Given the description of an element on the screen output the (x, y) to click on. 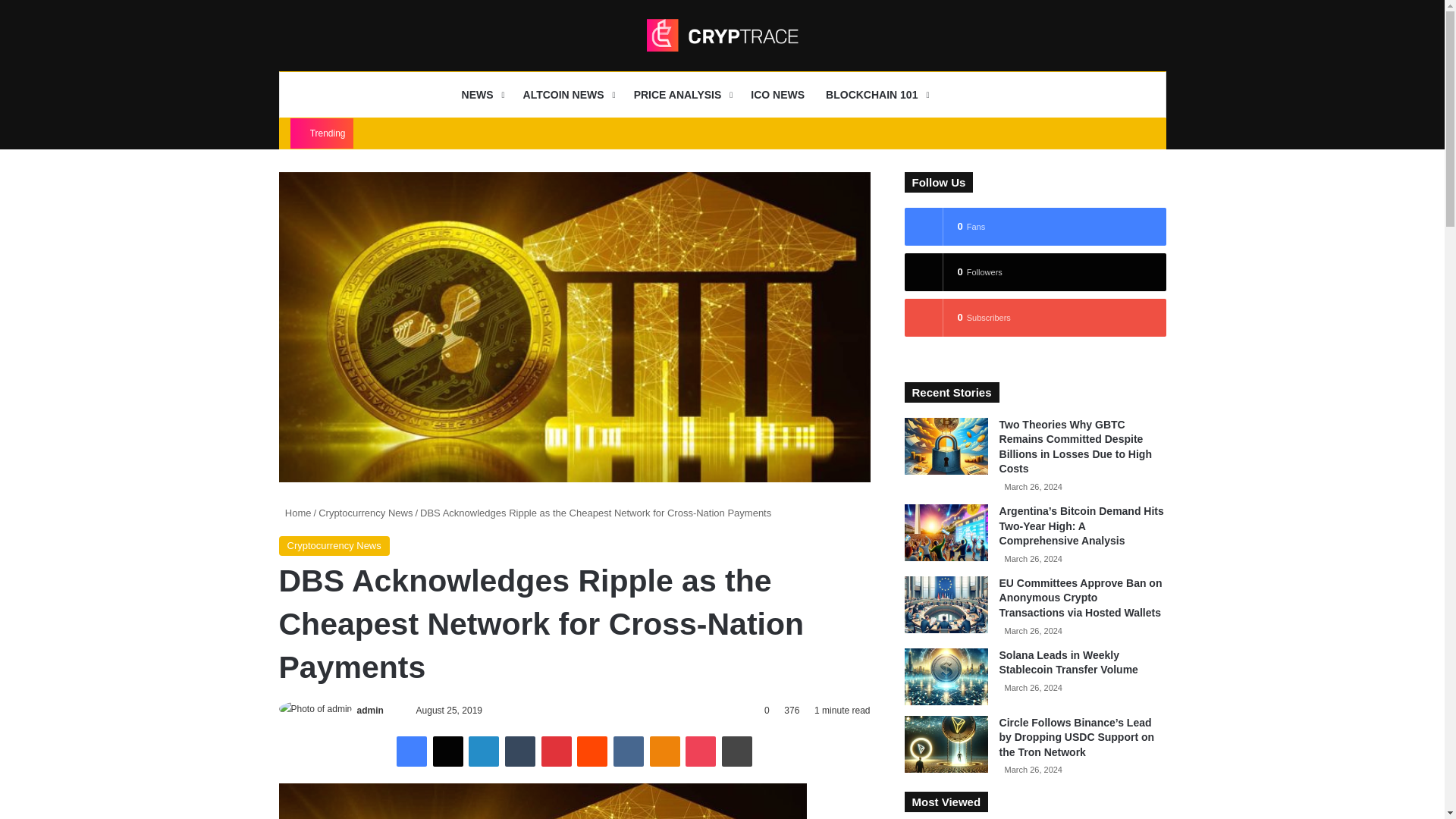
admin (370, 710)
ICO NEWS (777, 94)
BLOCKCHAIN 101 (875, 94)
NEWS (481, 94)
Cryptrace (721, 34)
Facebook (411, 751)
ALTCOIN NEWS (567, 94)
PRICE ANALYSIS (682, 94)
